Given the description of an element on the screen output the (x, y) to click on. 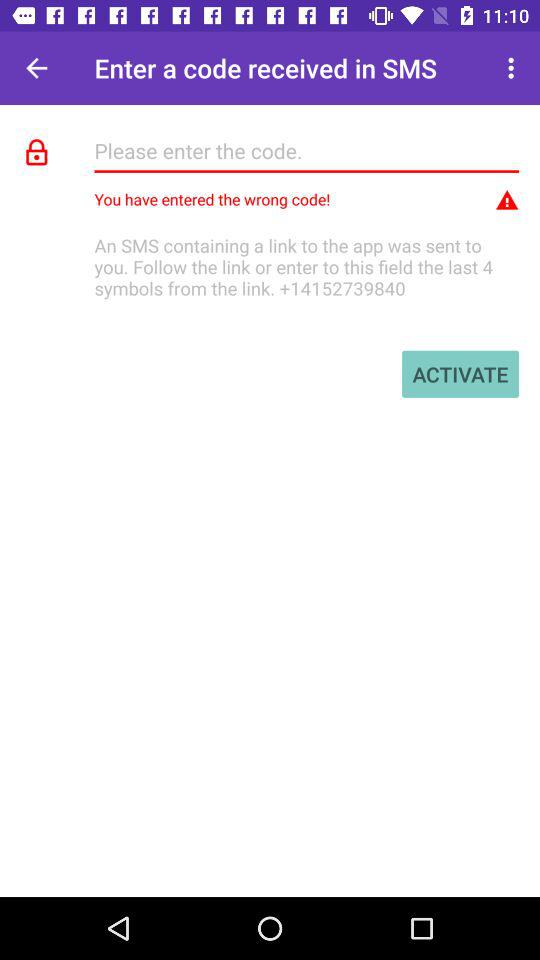
turn off the item next to the enter a code item (36, 68)
